Given the description of an element on the screen output the (x, y) to click on. 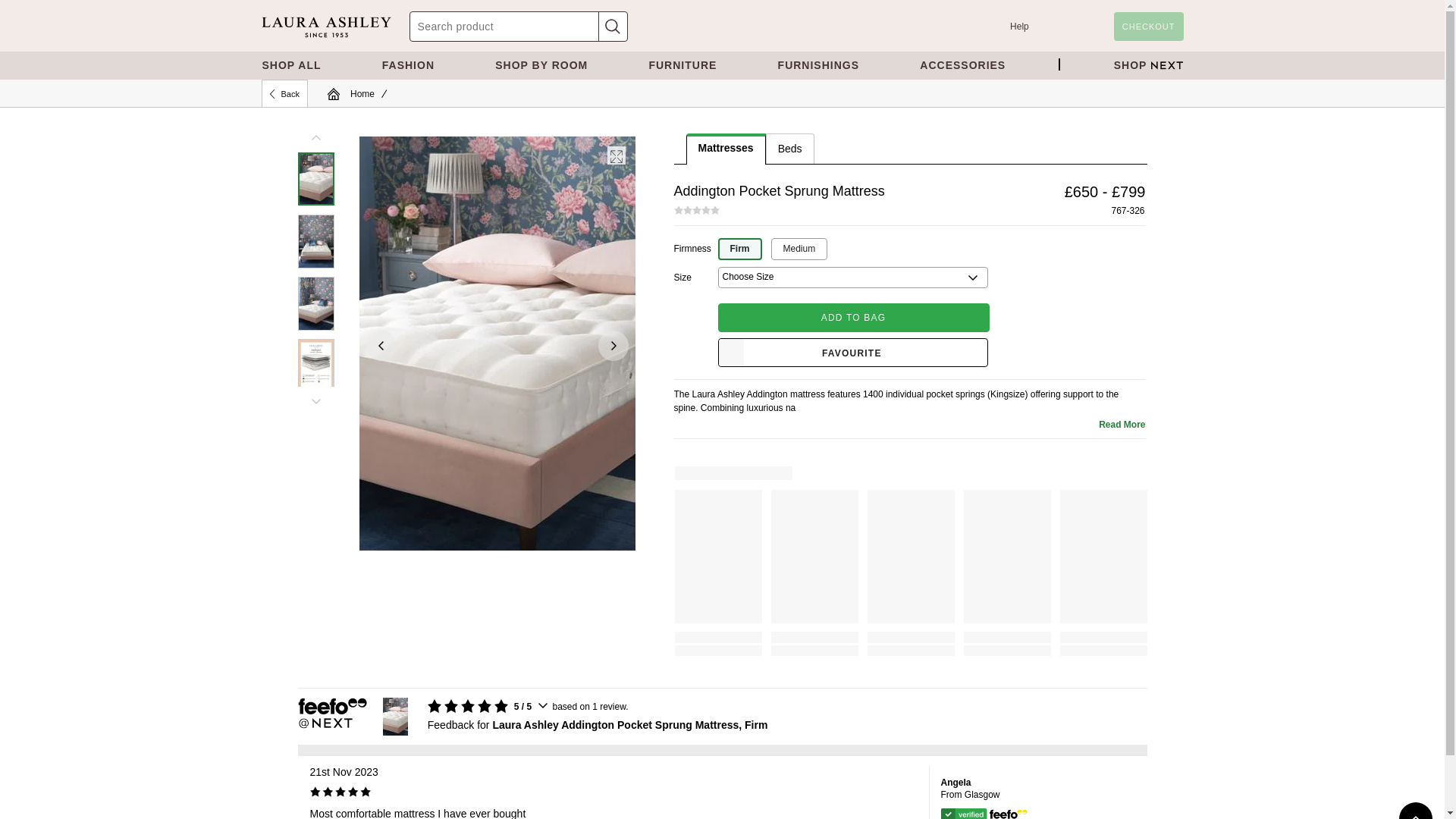
Mattresses (724, 147)
FURNITURE (682, 65)
ACCESSORIES (962, 65)
SHOP (1148, 65)
Back (283, 93)
Firm (739, 248)
ACCESSORIES (962, 65)
CHECKOUT (1148, 26)
FASHION (407, 65)
SHOP (1148, 65)
